Given the description of an element on the screen output the (x, y) to click on. 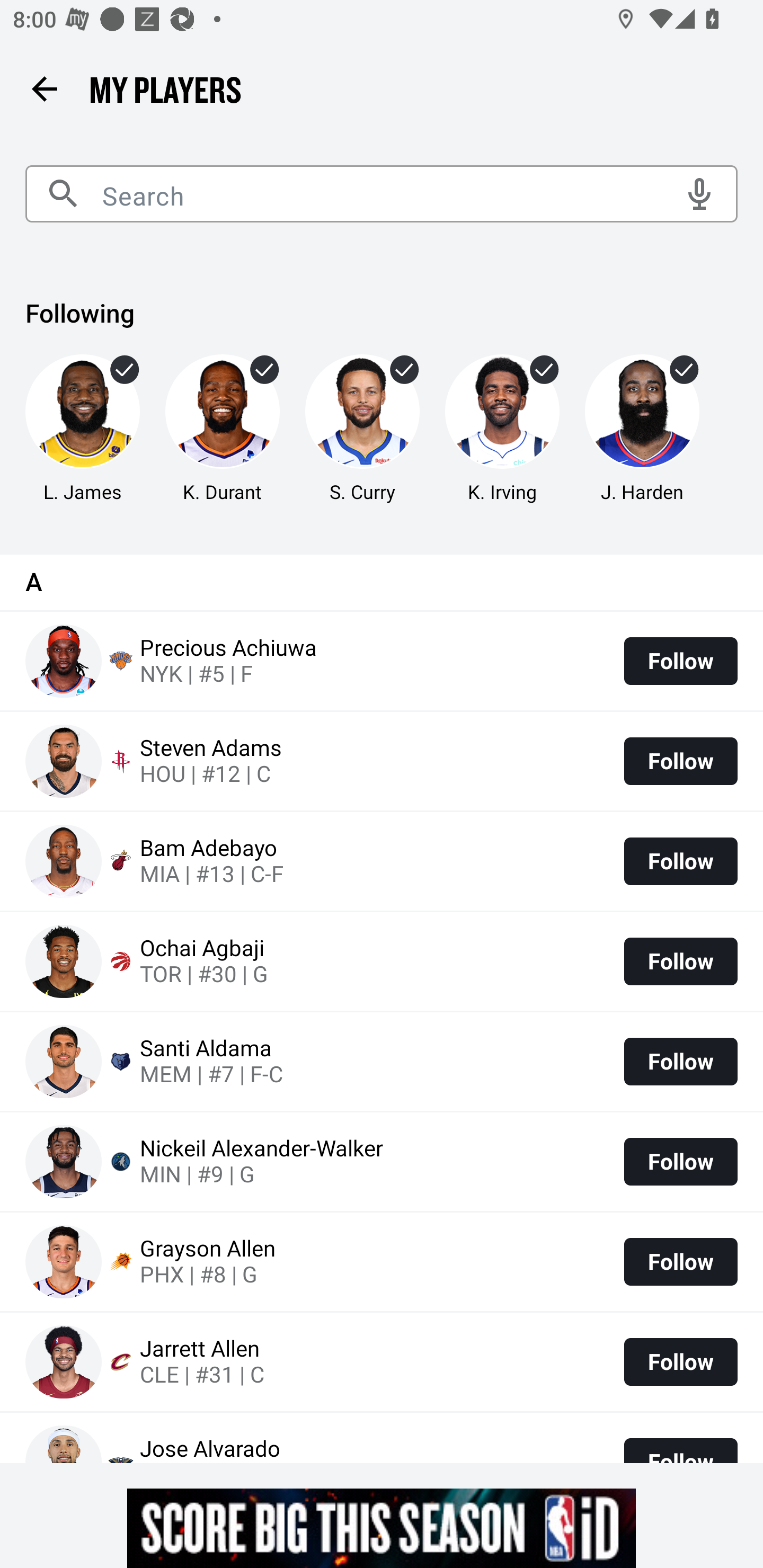
Back button (44, 88)
Search (381, 193)
Follow (680, 660)
Follow (680, 760)
Follow (680, 861)
Follow (680, 961)
Follow (680, 1061)
Follow (680, 1161)
Follow (680, 1261)
Follow (680, 1361)
g5nqqygr7owph (381, 1528)
